Given the description of an element on the screen output the (x, y) to click on. 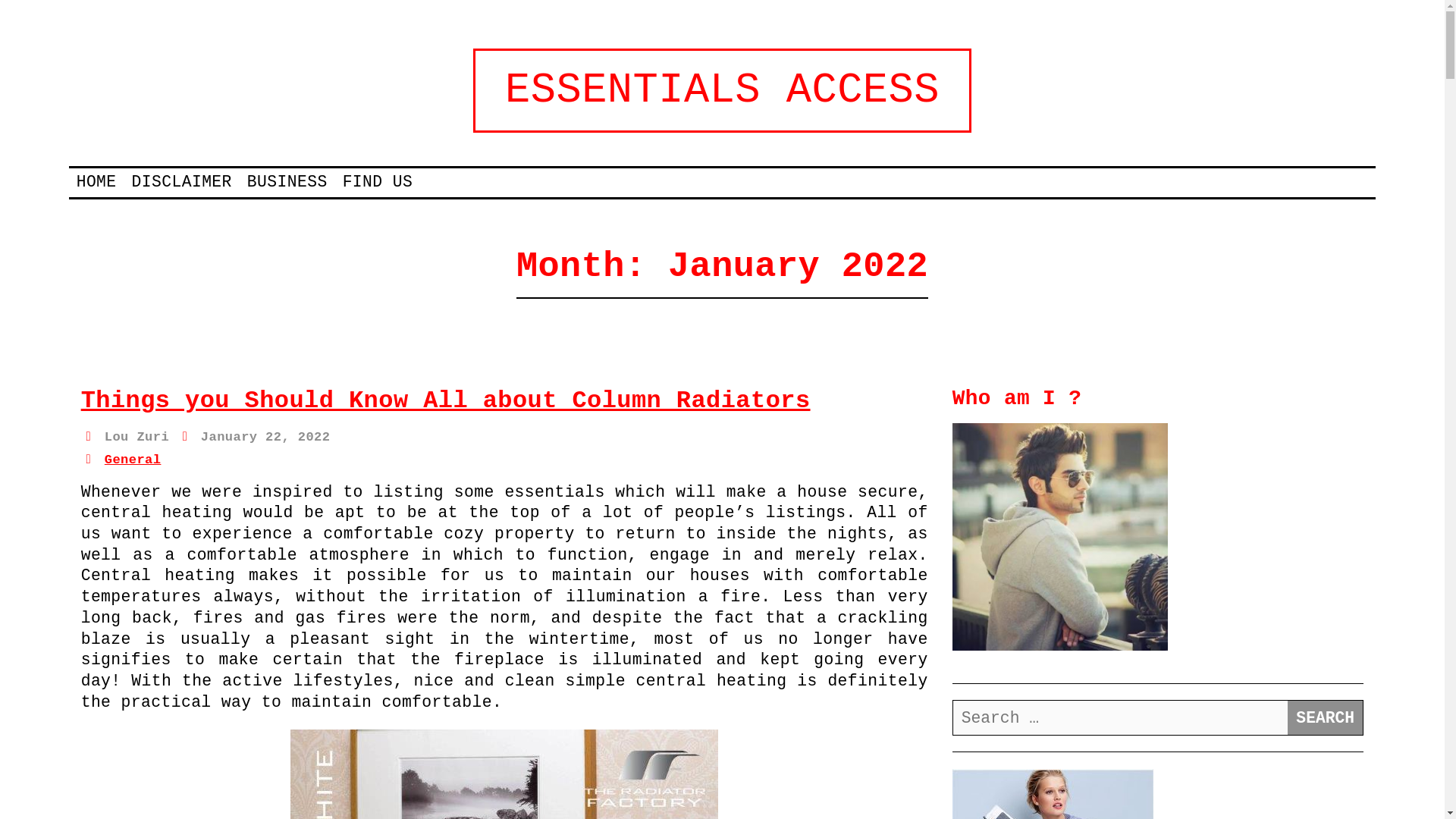
HOME (96, 181)
General (132, 459)
Search (1324, 717)
View all in General (132, 459)
Essentials Access Home (722, 90)
DISCLAIMER (181, 181)
ESSENTIALS ACCESS (722, 90)
Search (1324, 717)
FIND US (377, 181)
Search (1324, 717)
BUSINESS (287, 181)
Things you Should Know All about Column Radiators (445, 400)
